Given the description of an element on the screen output the (x, y) to click on. 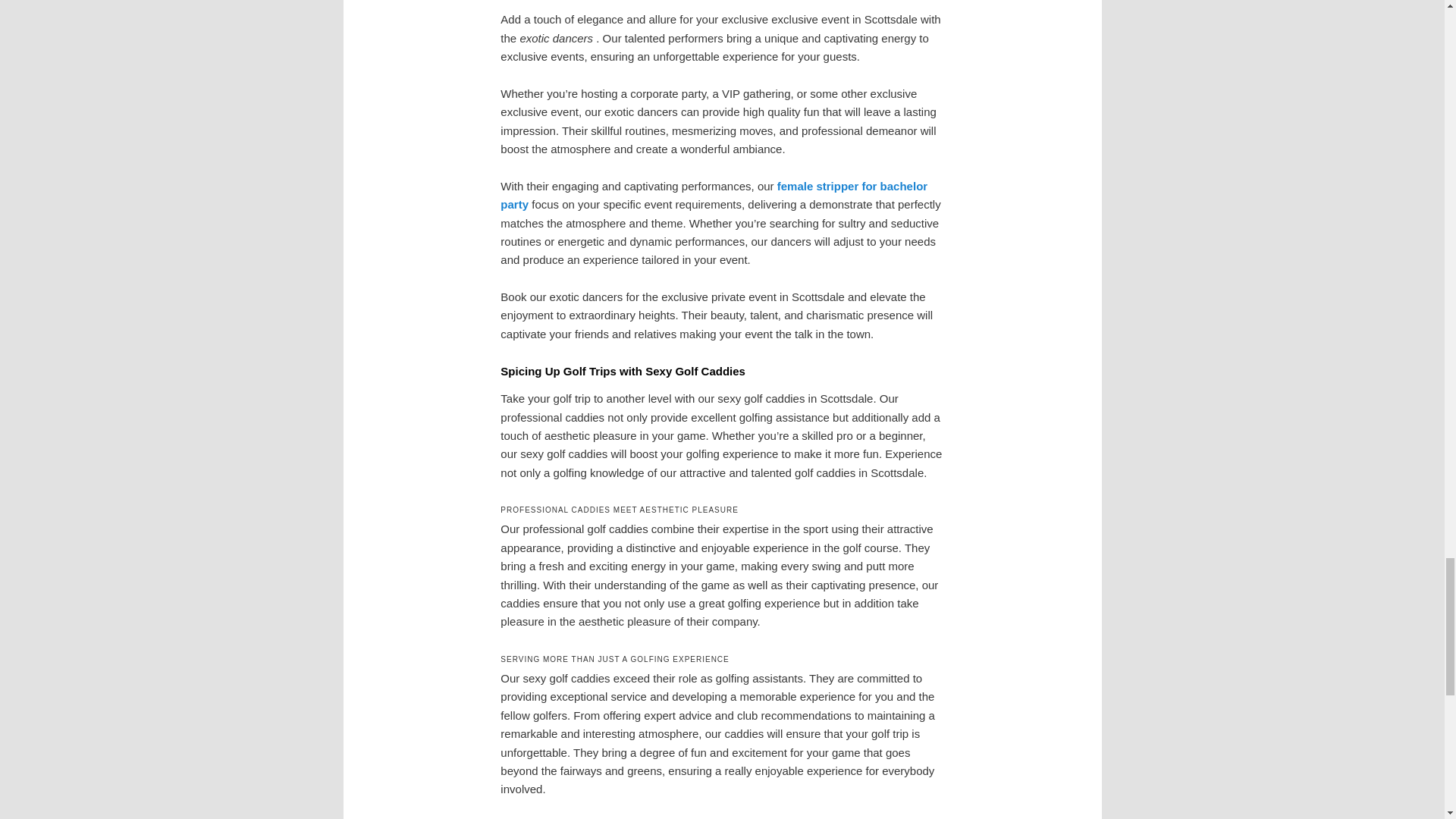
female stripper for bachelor party (713, 194)
